Given the description of an element on the screen output the (x, y) to click on. 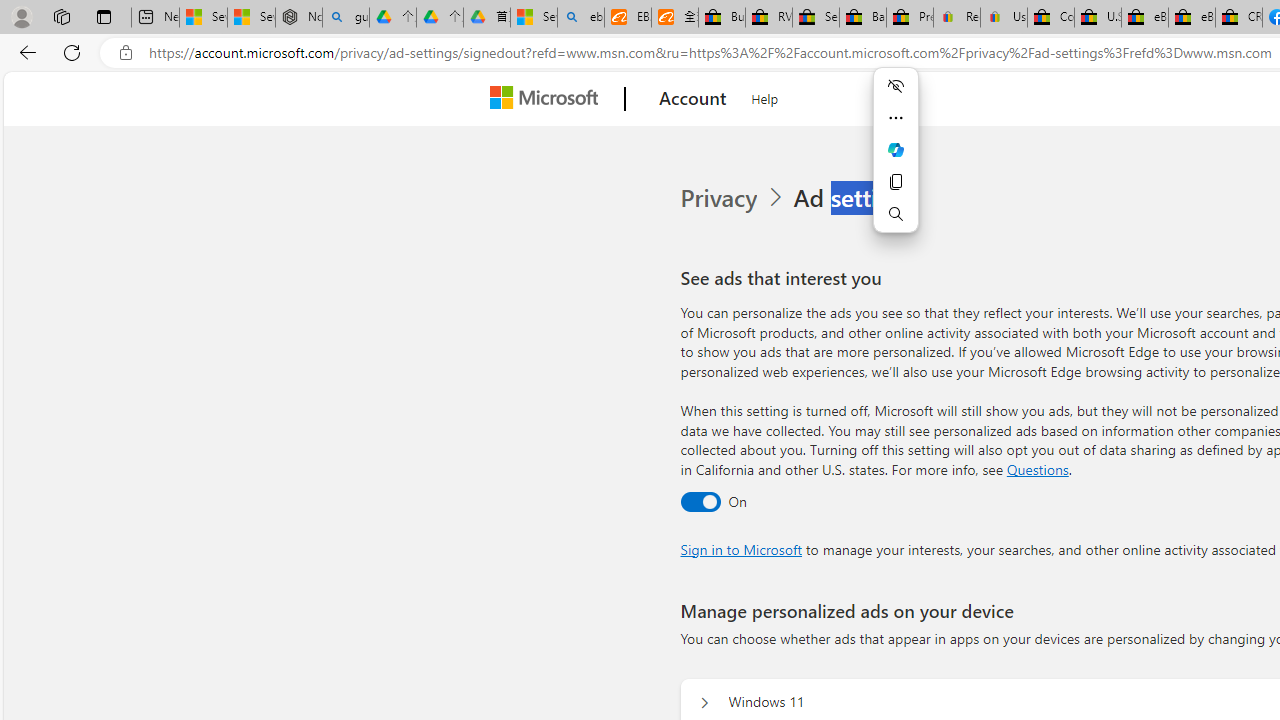
Sell worldwide with eBay (815, 17)
Baby Keepsakes & Announcements for sale | eBay (862, 17)
Hide menu (895, 85)
Account (692, 99)
More actions (895, 117)
Mini menu on text selection (895, 161)
Manage personalized ads on your device Windows 11 (704, 702)
Help (765, 96)
Go to Questions section (1037, 468)
